Given the description of an element on the screen output the (x, y) to click on. 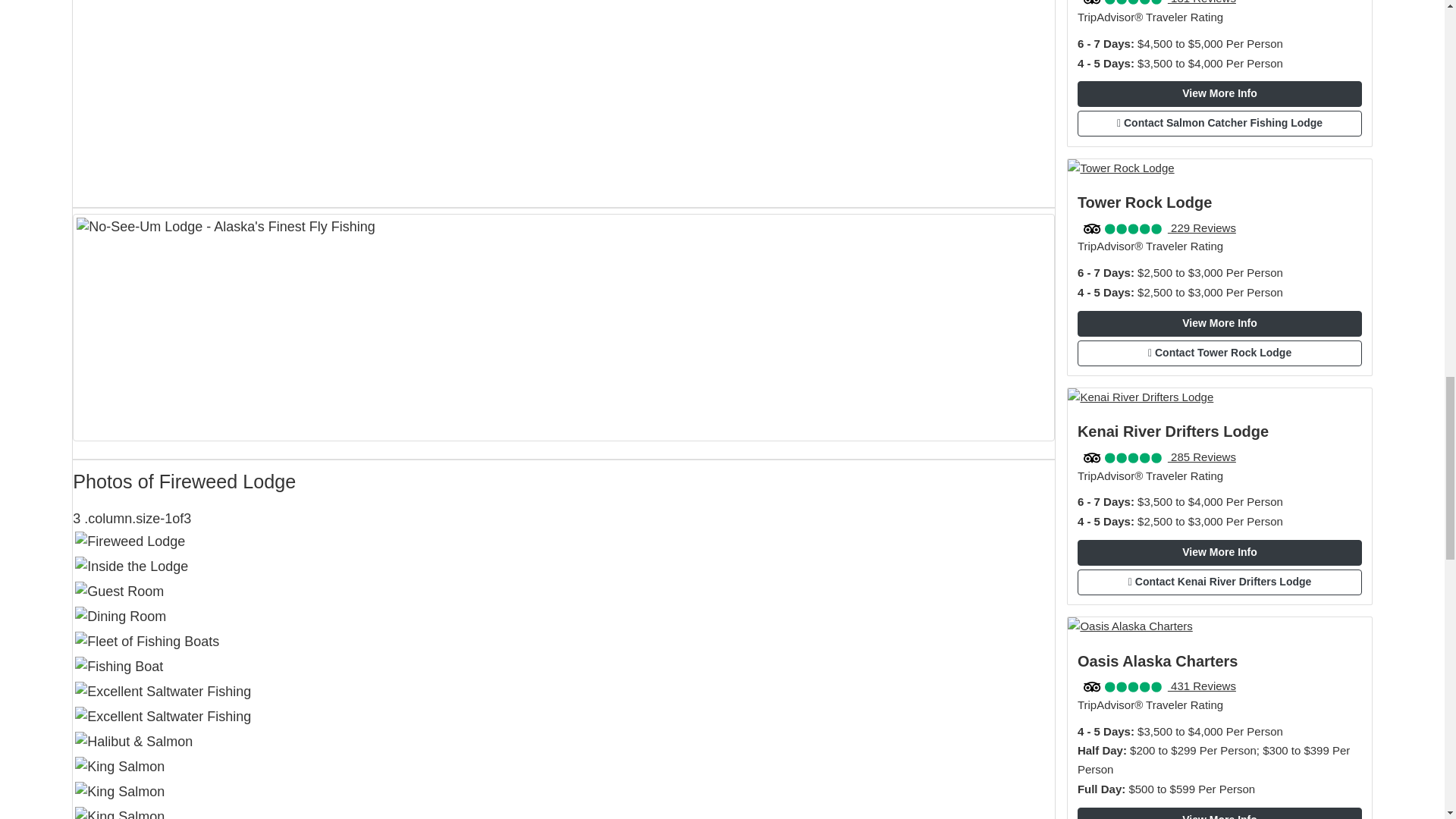
King Salmon (563, 766)
Excellent Saltwater Fishing (563, 716)
King Salmon (563, 791)
Fleet of Fishing Boats (563, 641)
Excellent Saltwater Fishing (563, 691)
Guest Room (563, 591)
Inside the Lodge (563, 566)
Fishing Boat (563, 666)
King Salmon (563, 811)
Fireweed Lodge (563, 550)
Dining Room (563, 616)
